Given the description of an element on the screen output the (x, y) to click on. 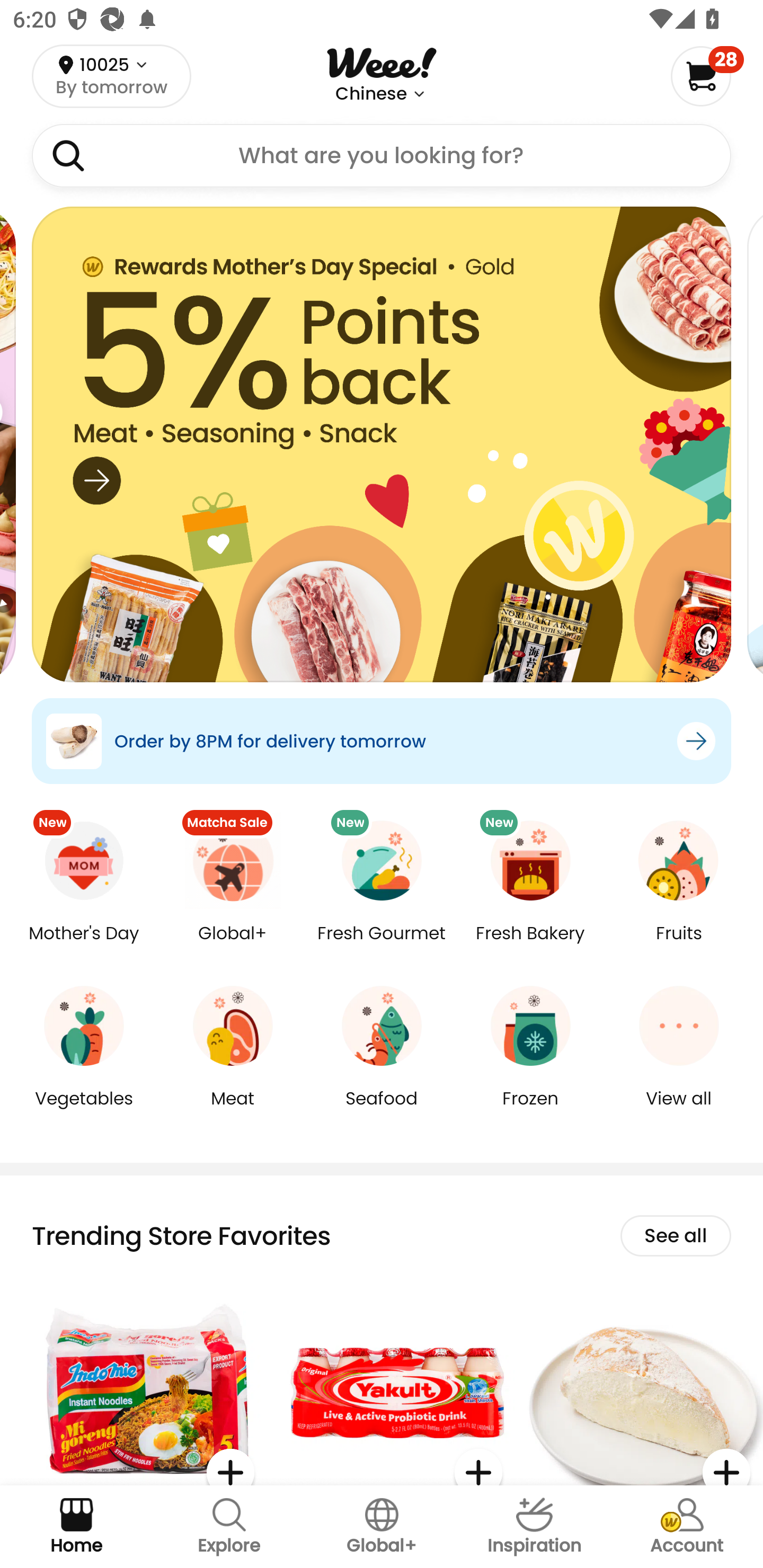
10025 By tomorrow (111, 75)
28 (706, 75)
Chinese (370, 93)
What are you looking for? (381, 155)
Order by 8PM for delivery tomorrow (381, 740)
Mother's Day (83, 946)
Global+ (232, 946)
Fresh Gourmet (381, 946)
Fresh Bakery (530, 946)
Fruits (678, 946)
Vegetables (83, 1111)
Meat (232, 1111)
Seafood (381, 1111)
Frozen (530, 1111)
View all (678, 1111)
Home (76, 1526)
Explore (228, 1526)
Global+ (381, 1526)
Inspiration (533, 1526)
Account (686, 1526)
